Given the description of an element on the screen output the (x, y) to click on. 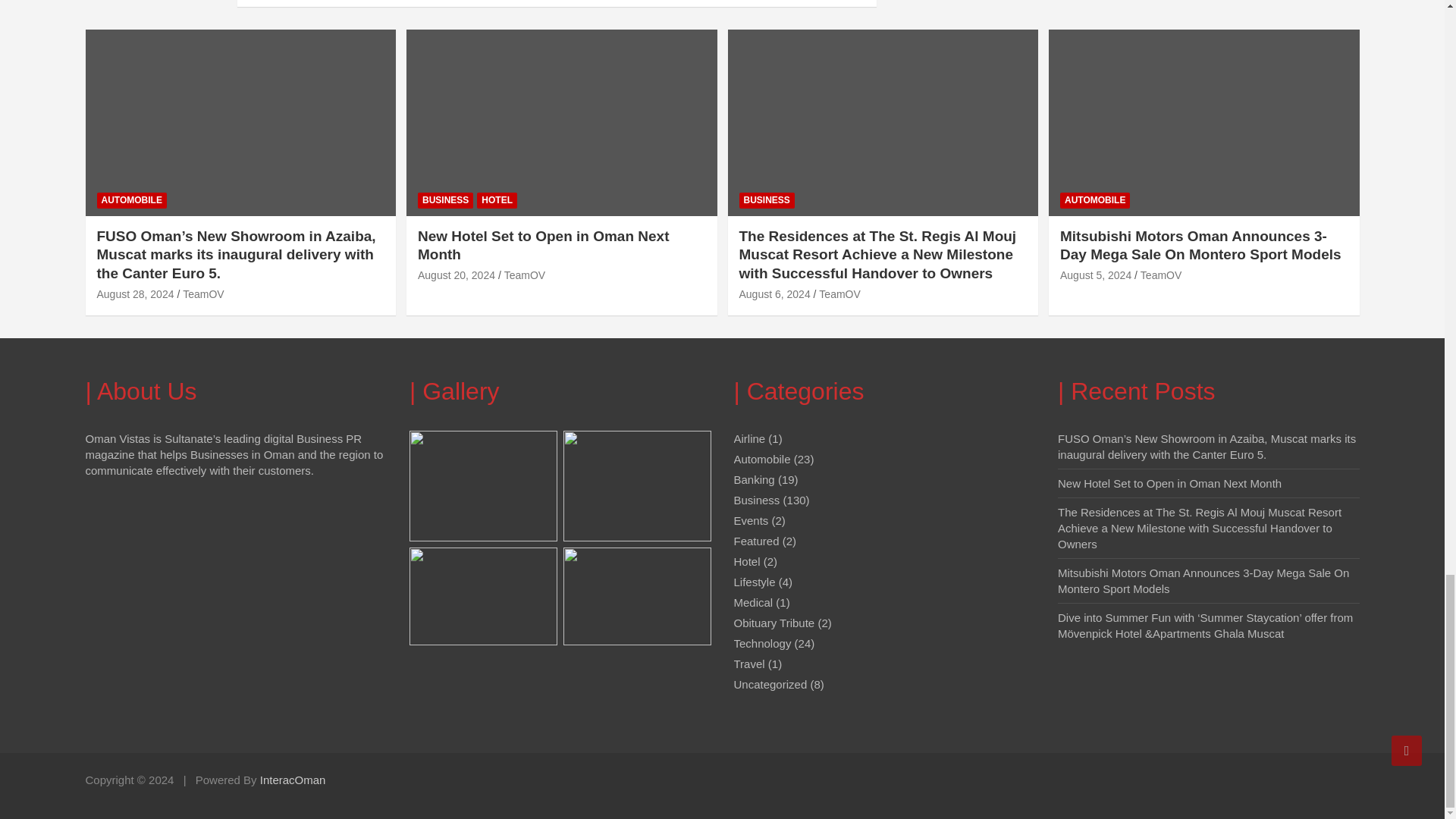
New Hotel Set to Open in Oman Next Month (456, 275)
